Given the description of an element on the screen output the (x, y) to click on. 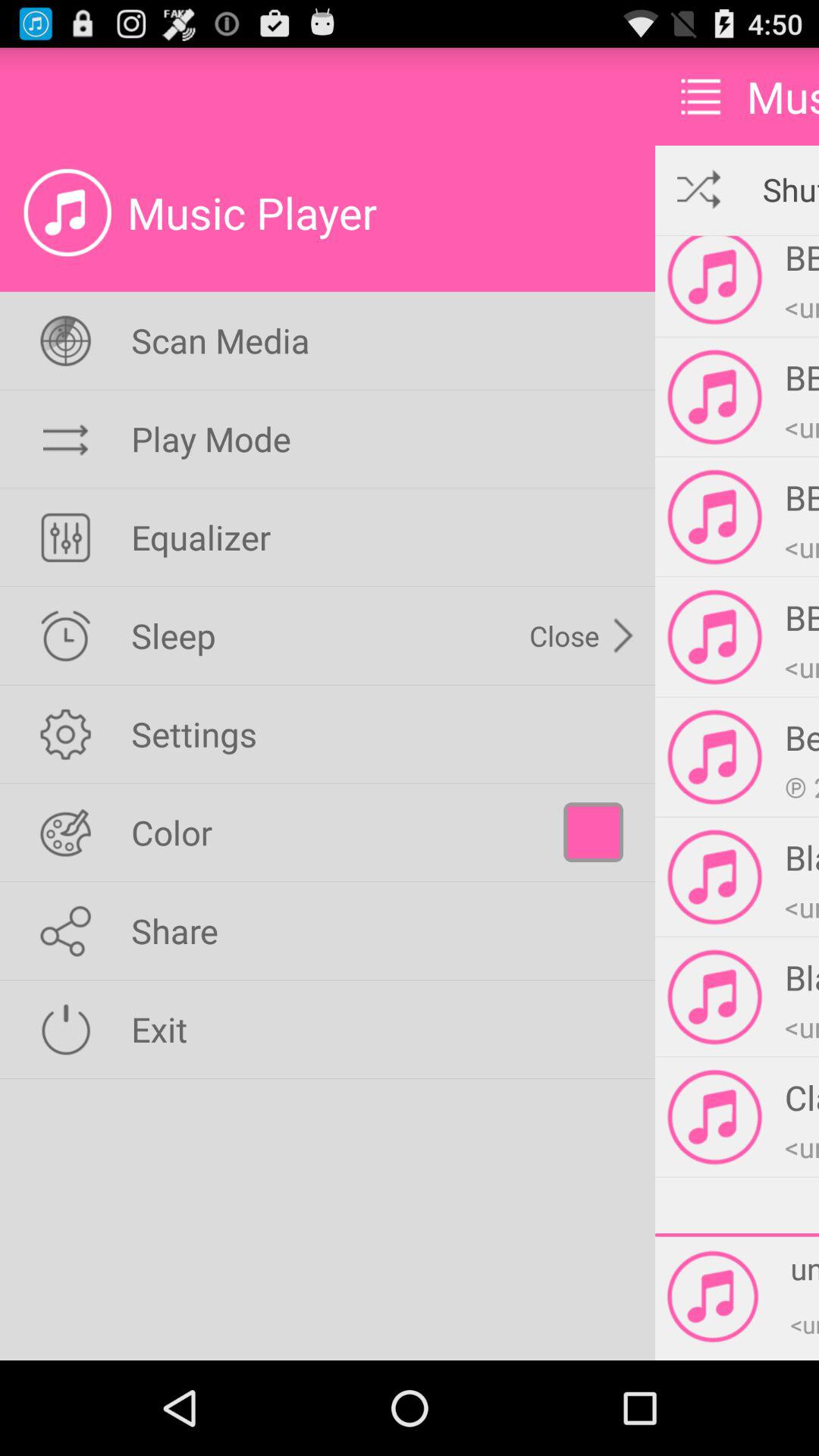
select the icon which is beside music player (67, 212)
select the second music icon on the right hand side (714, 396)
